Given the description of an element on the screen output the (x, y) to click on. 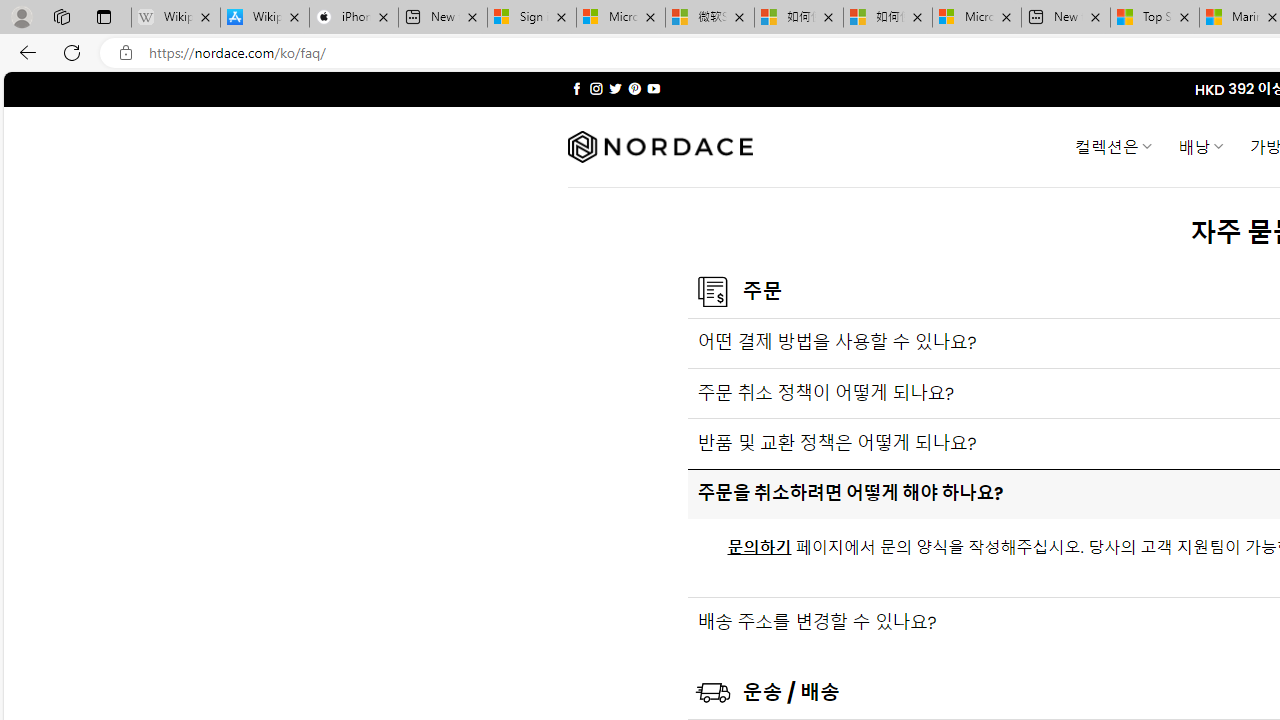
iPhone - Apple (353, 17)
Follow on YouTube (653, 88)
Follow on Pinterest (634, 88)
Follow on Facebook (576, 88)
